Given the description of an element on the screen output the (x, y) to click on. 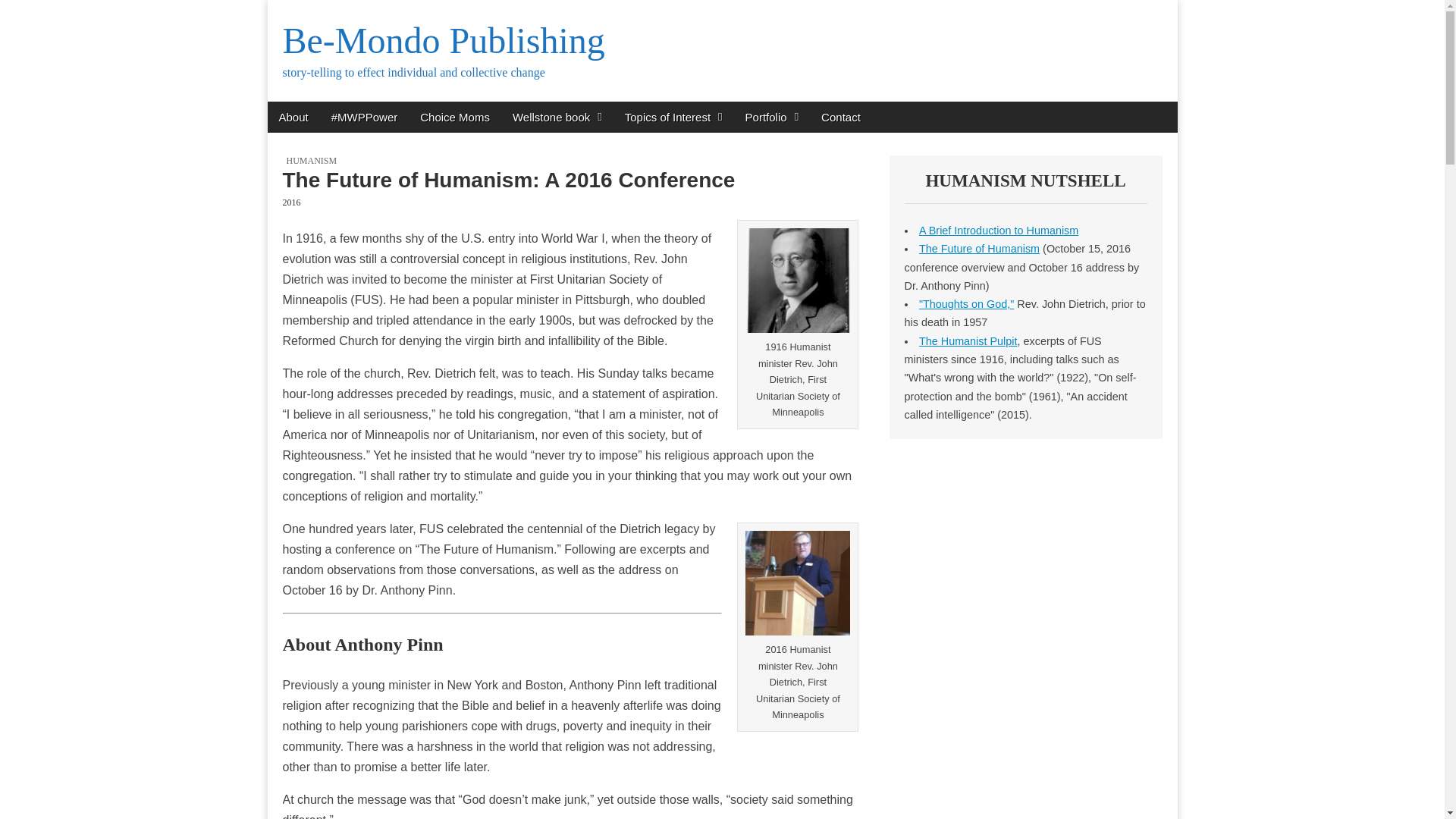
"Thoughts on God," (965, 304)
About (292, 116)
Be-Mondo Publishing (443, 40)
Be-Mondo Publishing (443, 40)
HUMANISM (311, 160)
A Brief Introduction to Humanism (998, 230)
The Humanist Pulpit (967, 340)
Skip to content (304, 110)
Contact (840, 116)
Skip to content (304, 110)
